Given the description of an element on the screen output the (x, y) to click on. 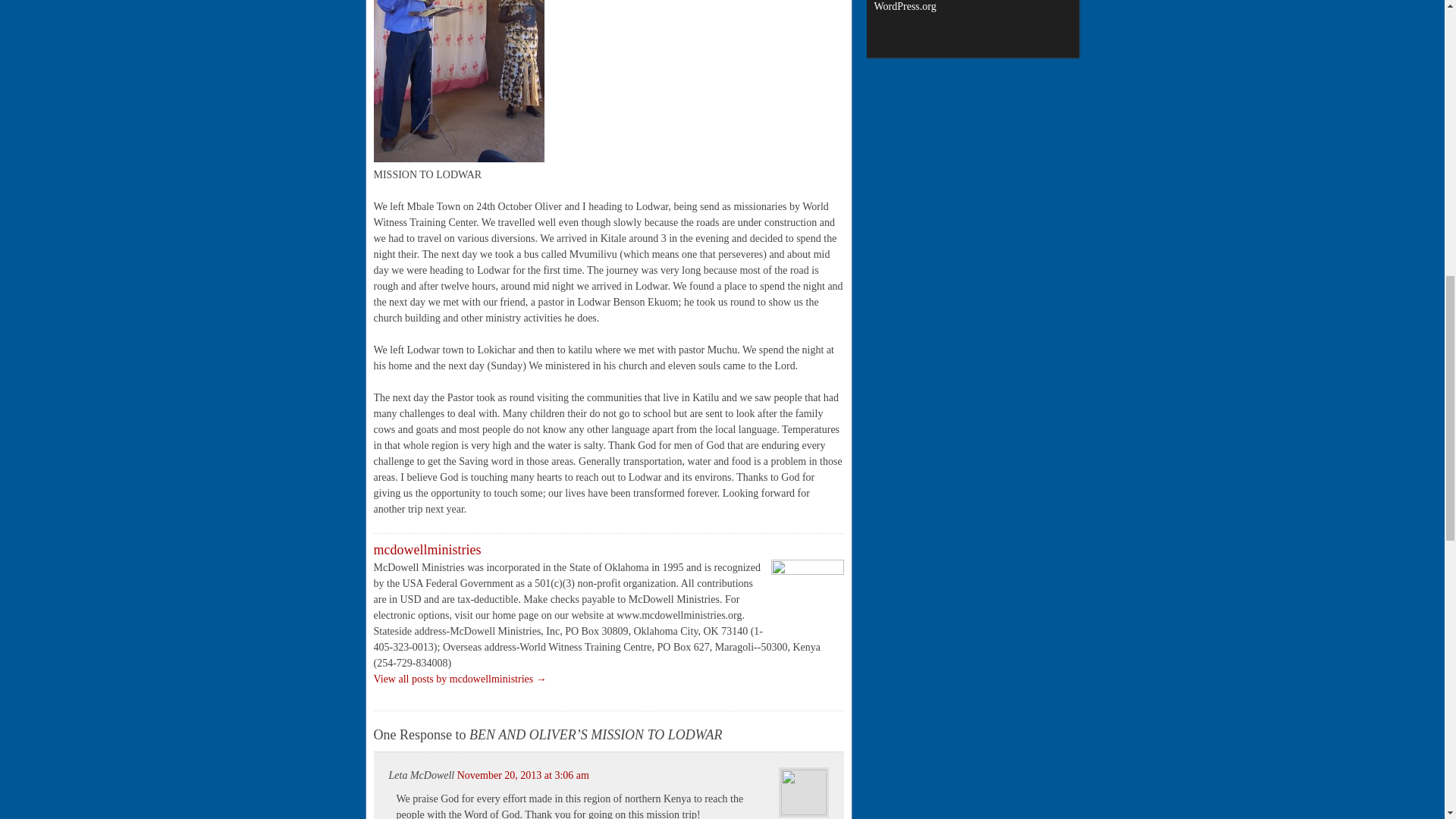
mcdowellministries (426, 549)
November 20, 2013 at 3:06 am (523, 775)
WordPress.org (904, 6)
